Given the description of an element on the screen output the (x, y) to click on. 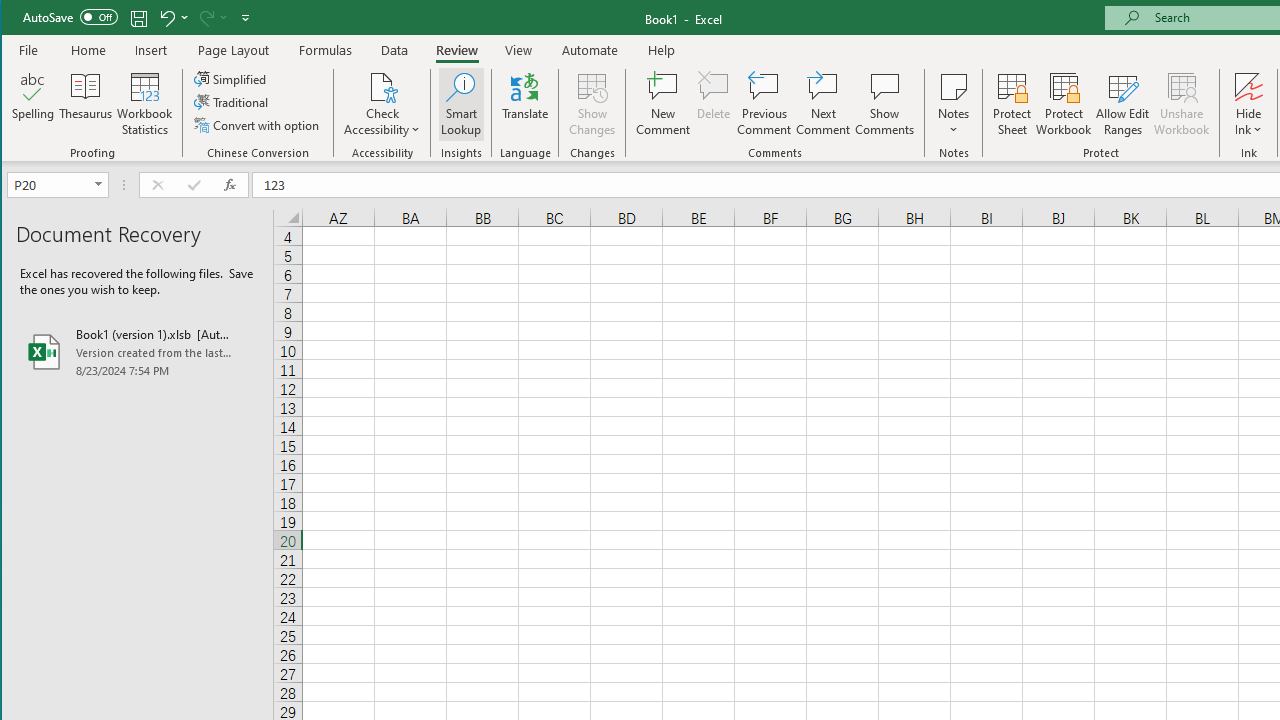
Simplified (231, 78)
